Given the description of an element on the screen output the (x, y) to click on. 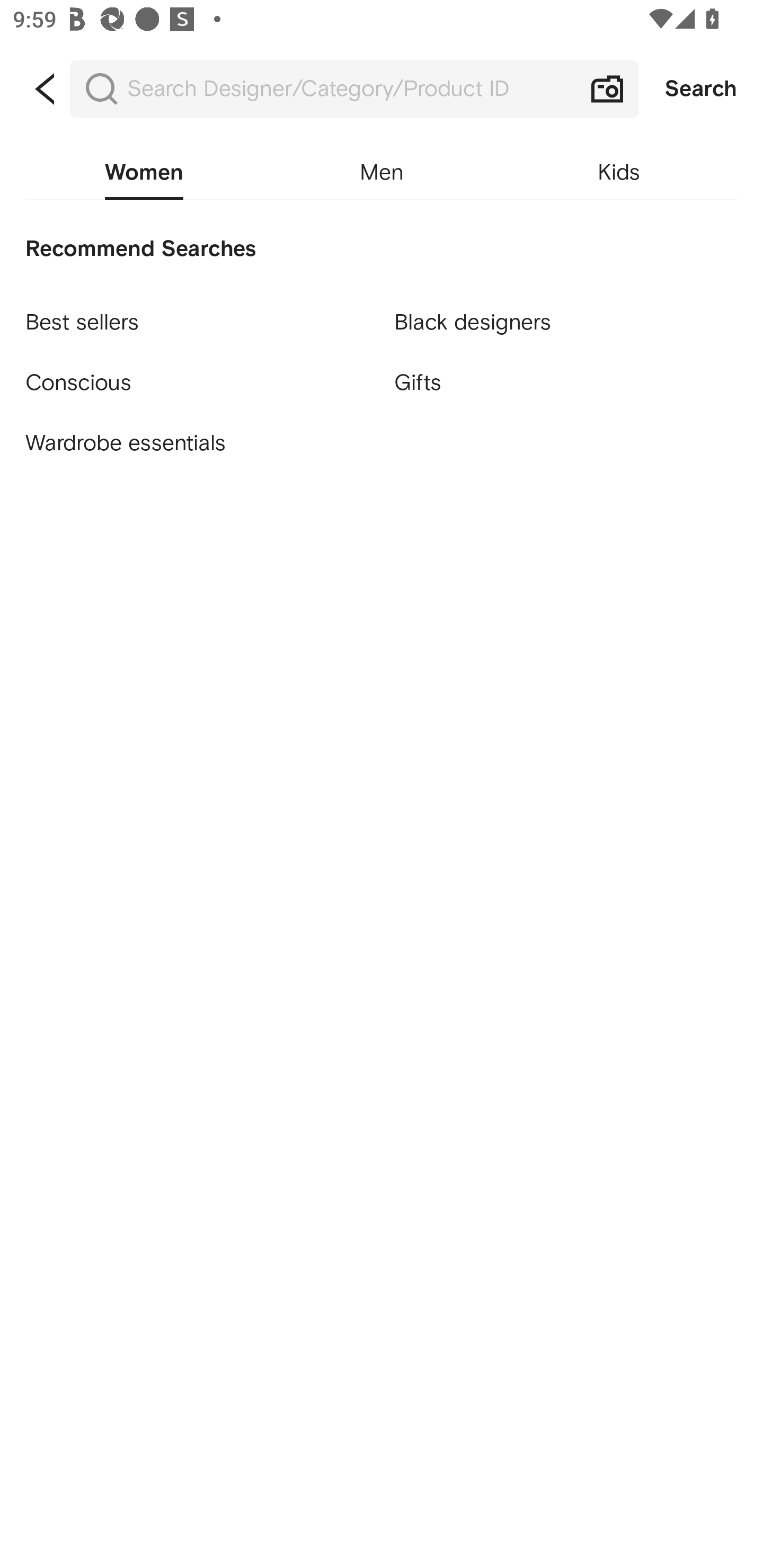
Search (701, 89)
Men (381, 172)
Kids (618, 172)
Best sellers (196, 313)
Black designers (565, 313)
Conscious (196, 374)
Gifts (565, 382)
Wardrobe essentials (196, 442)
